Given the description of an element on the screen output the (x, y) to click on. 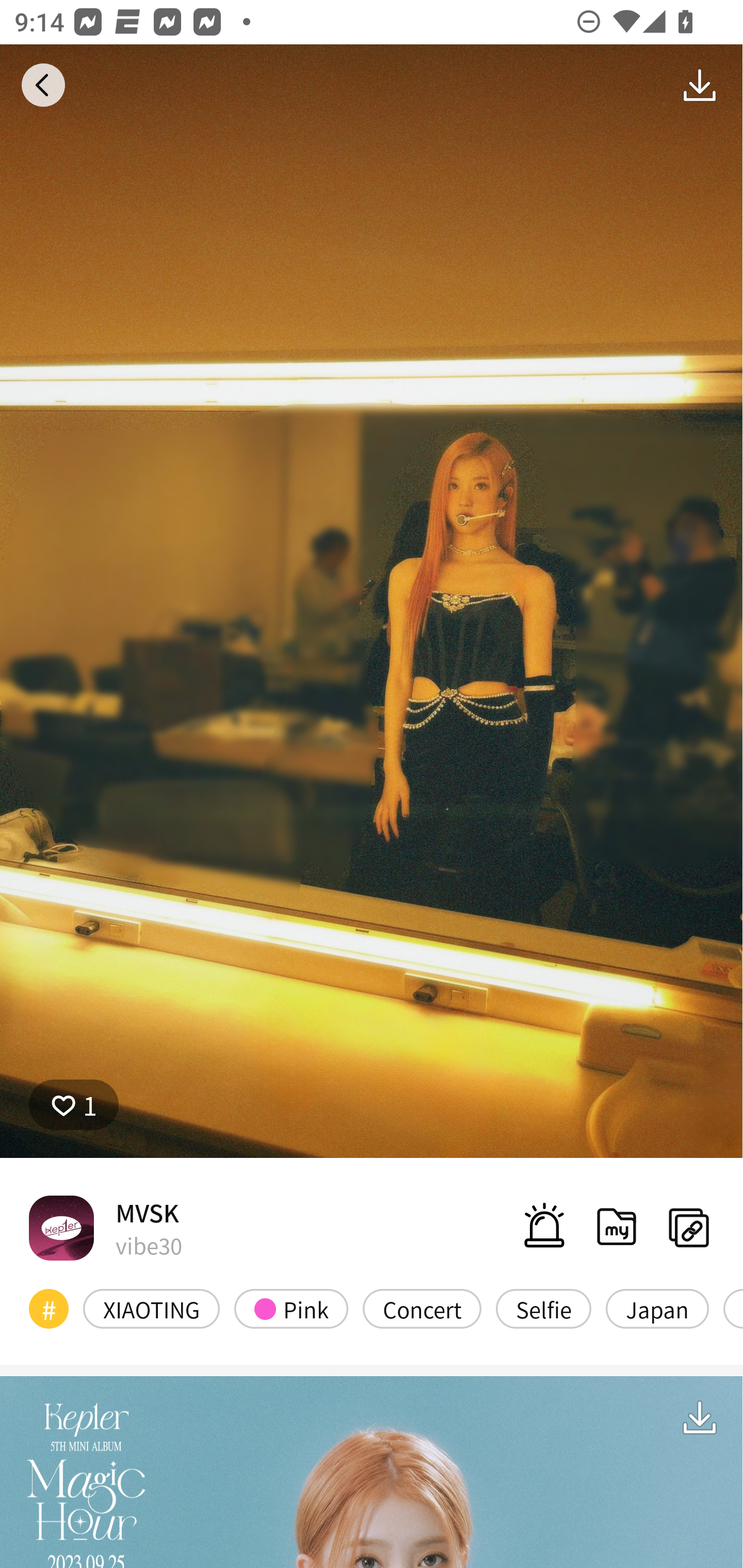
1 (73, 1104)
MVSK vibe30 (105, 1227)
XIAOTING (151, 1308)
Pink (291, 1308)
Concert (421, 1308)
Selfie (543, 1308)
Japan (656, 1308)
